Given the description of an element on the screen output the (x, y) to click on. 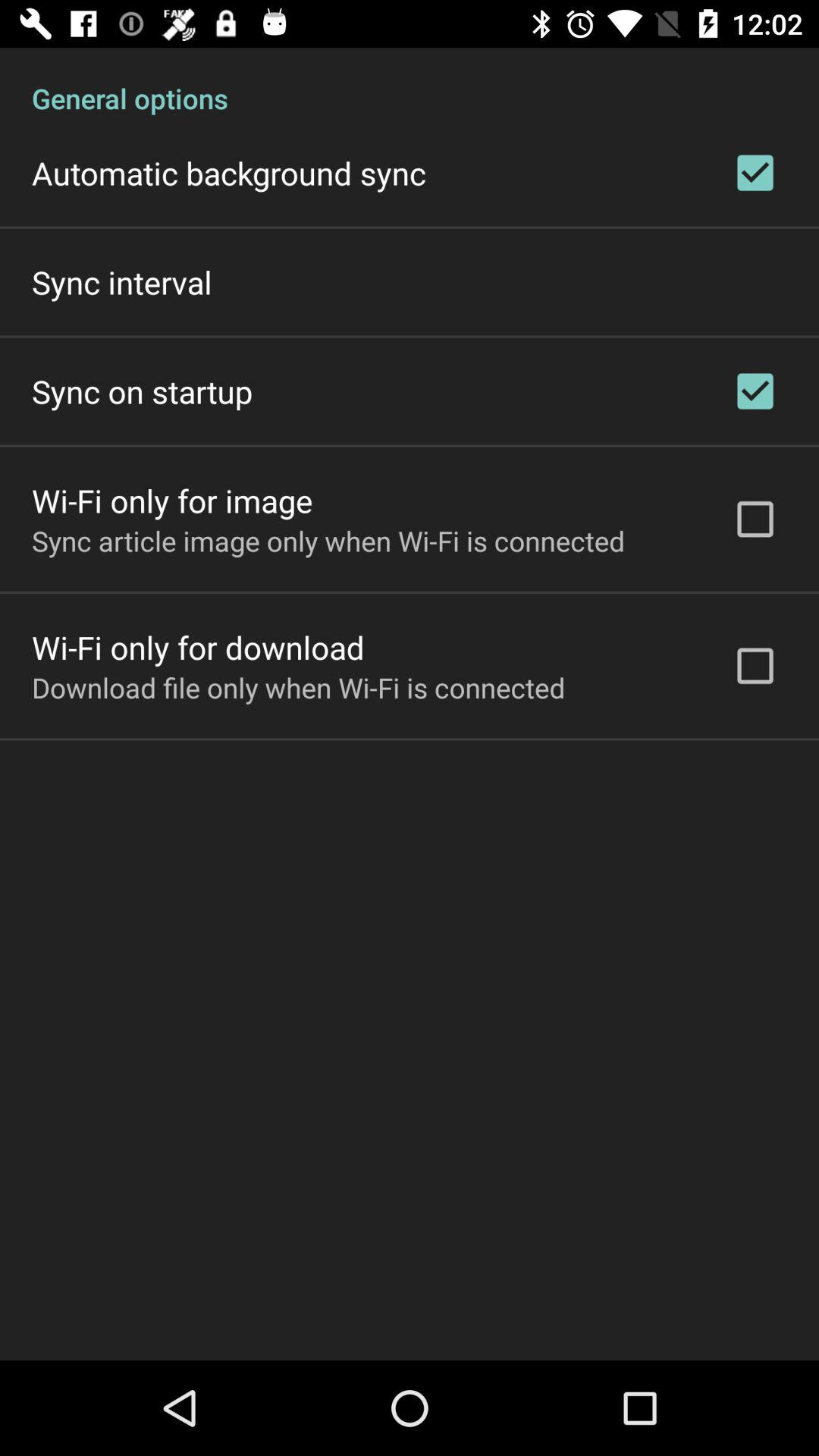
press the general options icon (409, 82)
